Given the description of an element on the screen output the (x, y) to click on. 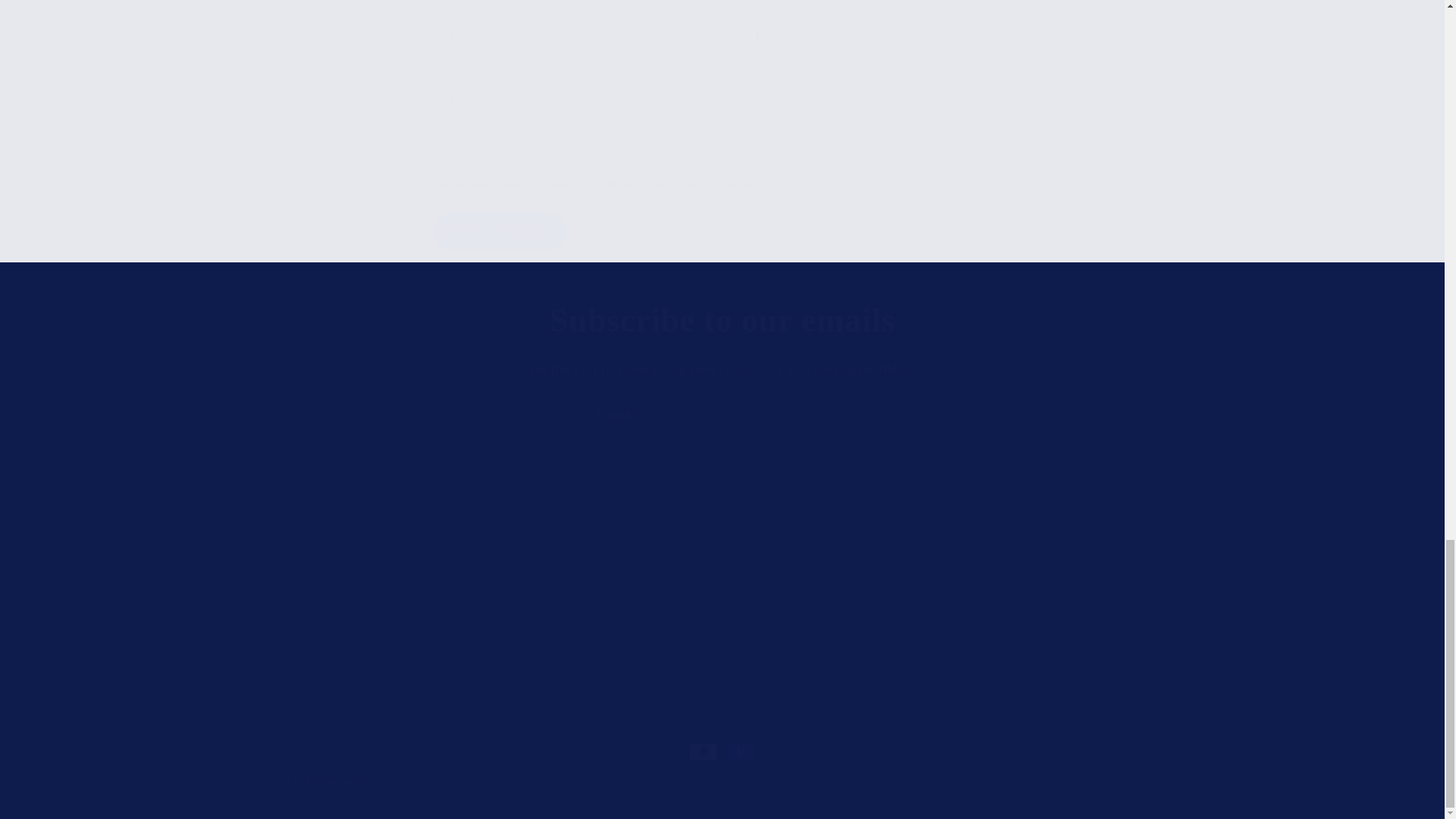
Subscribe to our emails (722, 321)
Shipping Policy (624, 532)
Contact us (316, 564)
Contact us (422, 583)
Post comment (316, 564)
About us (499, 230)
Post comment (310, 529)
Email (499, 230)
